Given the description of an element on the screen output the (x, y) to click on. 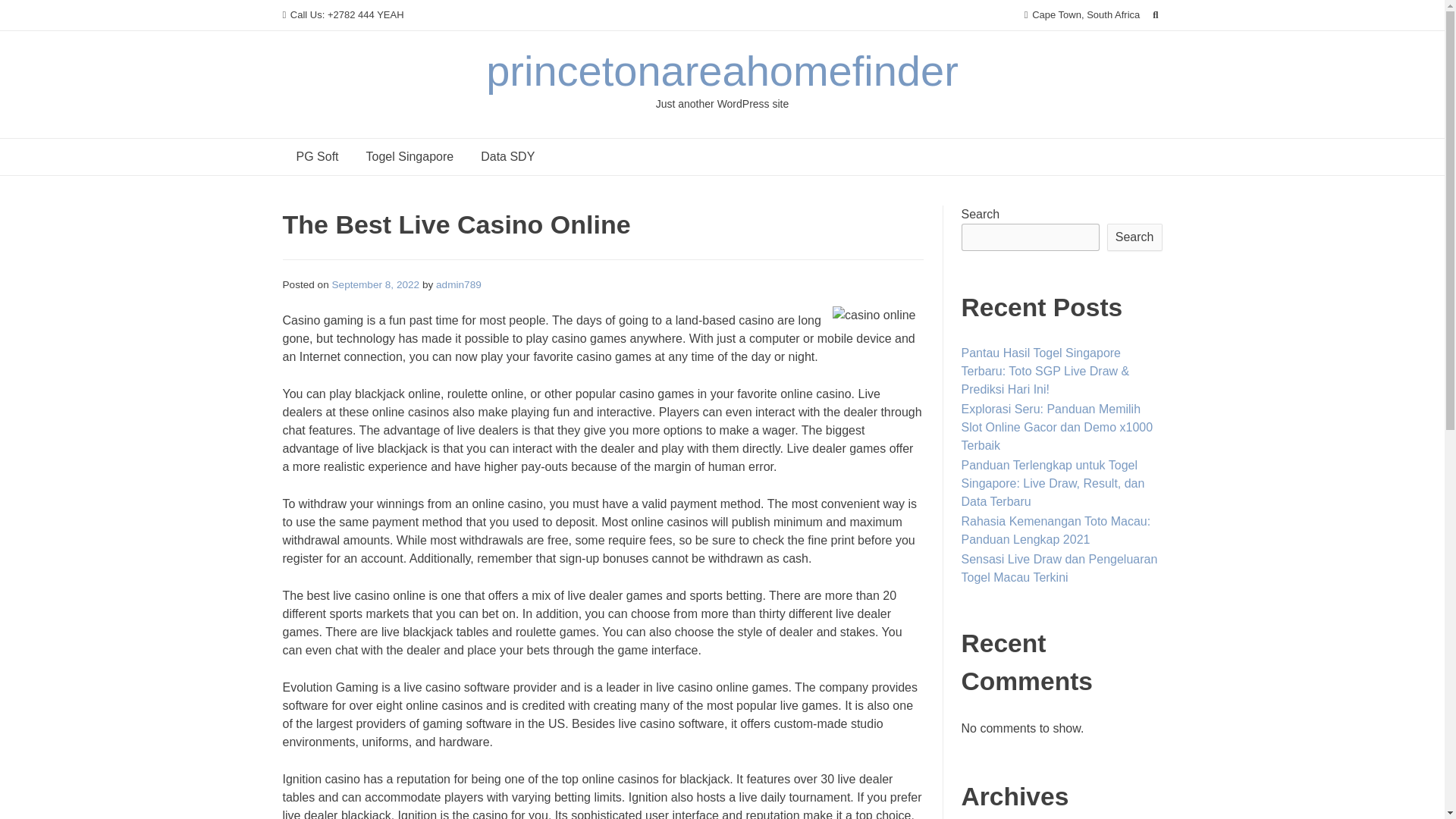
princetonareahomefinder (722, 70)
Togel Singapore (409, 156)
September 8, 2022 (375, 284)
admin789 (458, 284)
Rahasia Kemenangan Toto Macau: Panduan Lengkap 2021 (1055, 530)
Data SDY (507, 156)
Sensasi Live Draw dan Pengeluaran Togel Macau Terkini (1058, 567)
Search (27, 13)
PG Soft (317, 156)
Search (1133, 236)
